Given the description of an element on the screen output the (x, y) to click on. 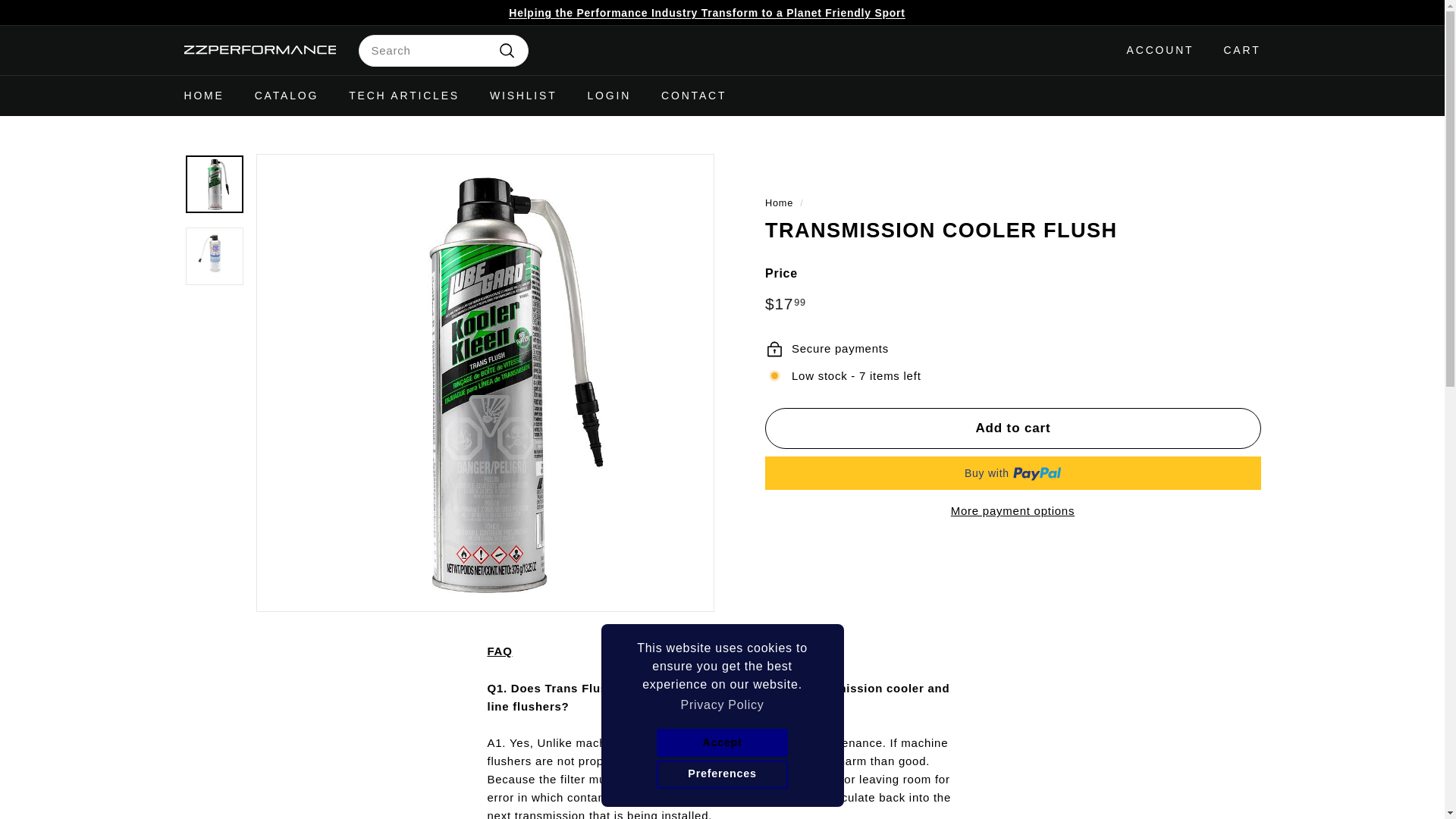
ZZPerformance on YouTube (1256, 12)
CART (1235, 49)
Back to the frontpage (778, 202)
Instagram (1240, 12)
Facebook (1248, 12)
ZZPerformance on Facebook (1248, 12)
HOME (203, 95)
ZZPerformance on Instagram (1240, 12)
